Given the description of an element on the screen output the (x, y) to click on. 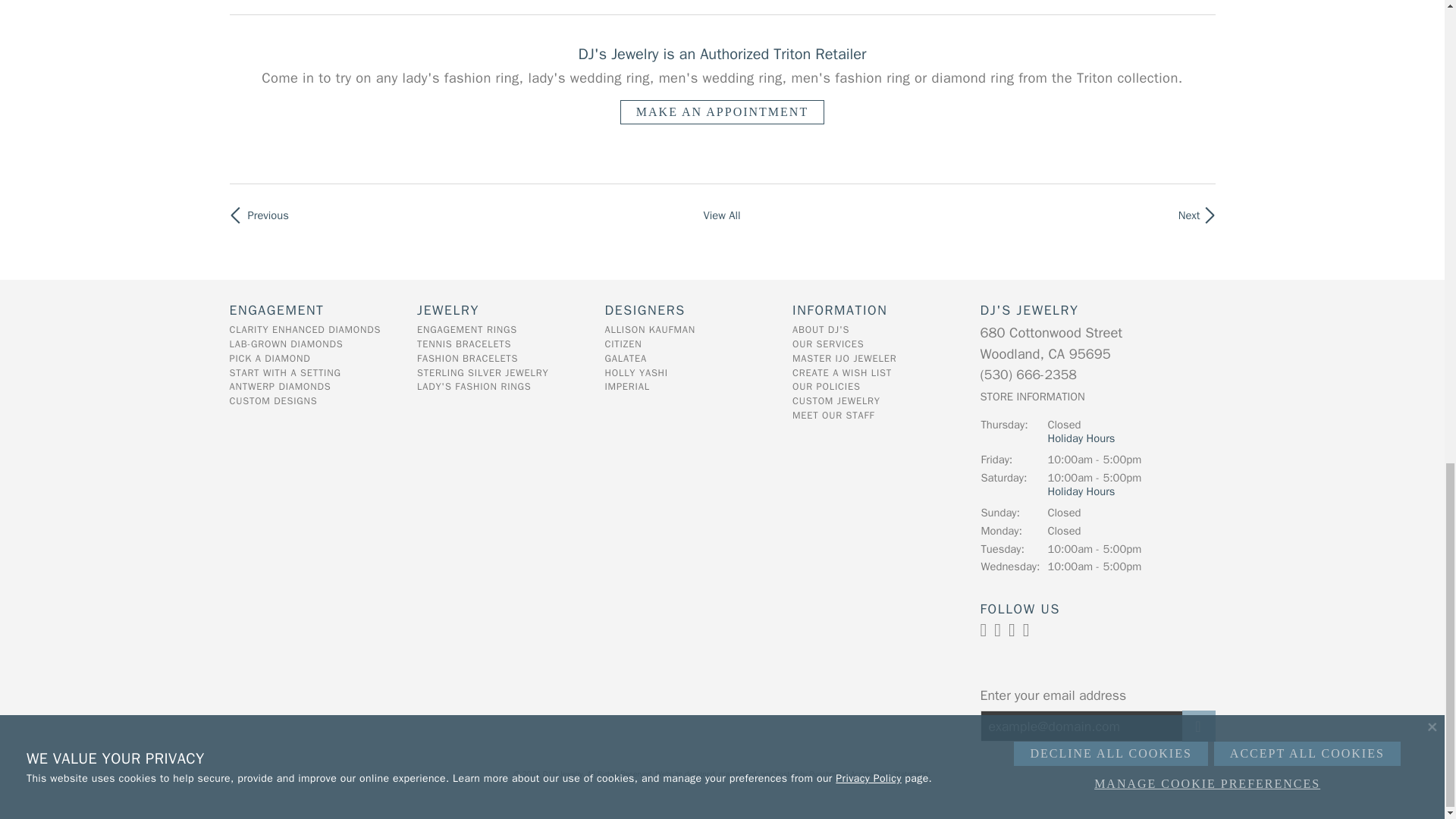
Parle Gems (261, 214)
View All brands (721, 214)
William Henry (1183, 214)
Enter your email address to subscribe (1080, 726)
